Given the description of an element on the screen output the (x, y) to click on. 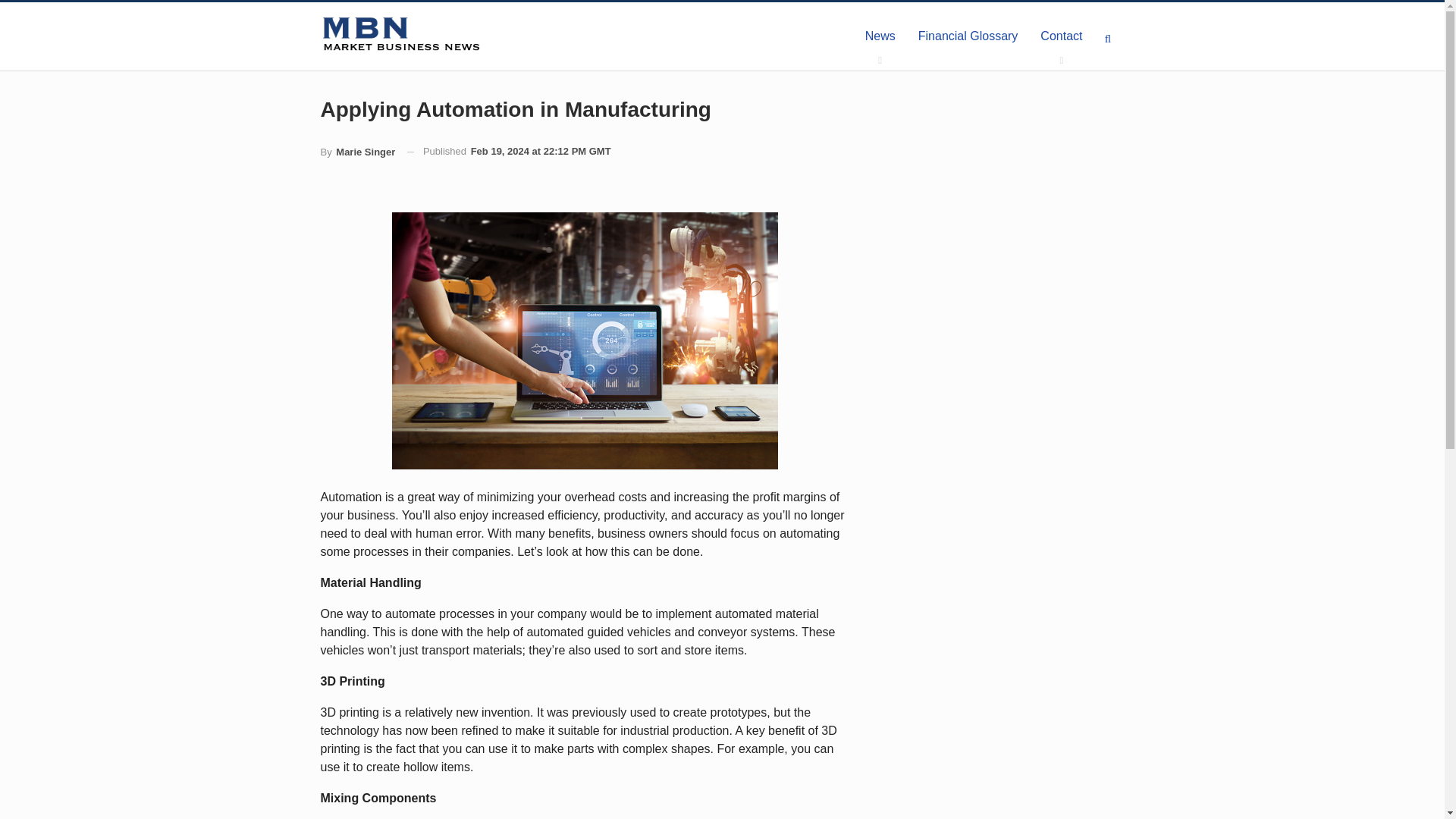
Browse Author Articles (357, 152)
Financial Glossary (968, 36)
Contact (1061, 36)
By Marie Singer (357, 152)
